Given the description of an element on the screen output the (x, y) to click on. 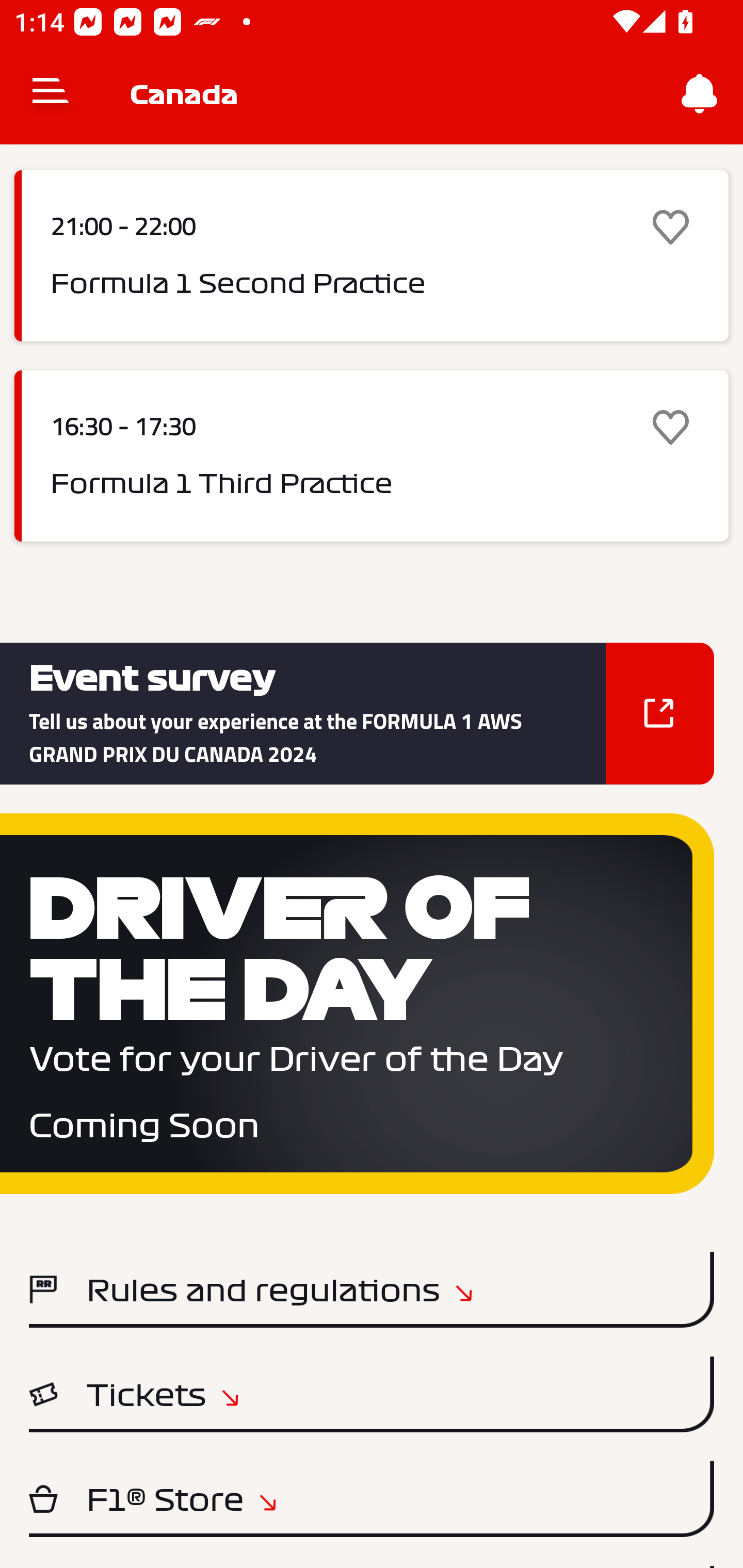
Navigate up (50, 93)
Notifications (699, 93)
21:00 - 22:00 Formula 1 Second Practice (371, 255)
16:30 - 17:30 Formula 1 Third Practice (371, 455)
Rules and regulations (371, 1289)
Tickets (371, 1393)
F1® Store (371, 1498)
